Given the description of an element on the screen output the (x, y) to click on. 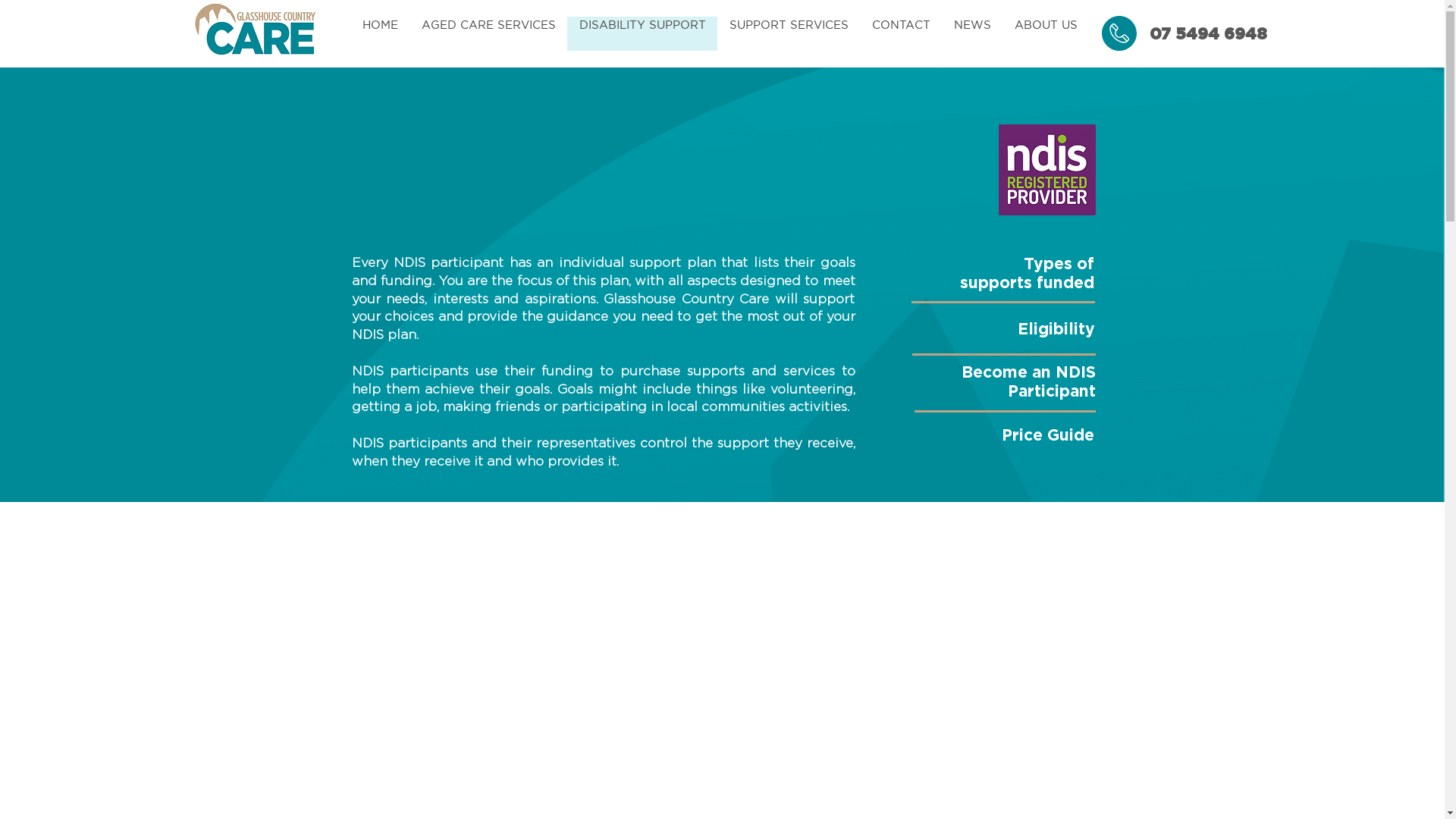
DISABILITY SUPPORT Element type: text (642, 33)
Price Guide Element type: text (1047, 434)
supports funded Element type: text (1027, 282)
Become an NDIS Participant Element type: text (1028, 381)
Eligibility Element type: text (1056, 328)
Types of Element type: text (1058, 263)
SUPPORT SERVICES Element type: text (788, 33)
ABOUT US Element type: text (1045, 33)
HOME Element type: text (379, 33)
07 5494 6948 Element type: text (1207, 32)
AGED CARE SERVICES Element type: text (488, 33)
CONTACT Element type: text (900, 33)
